Given the description of an element on the screen output the (x, y) to click on. 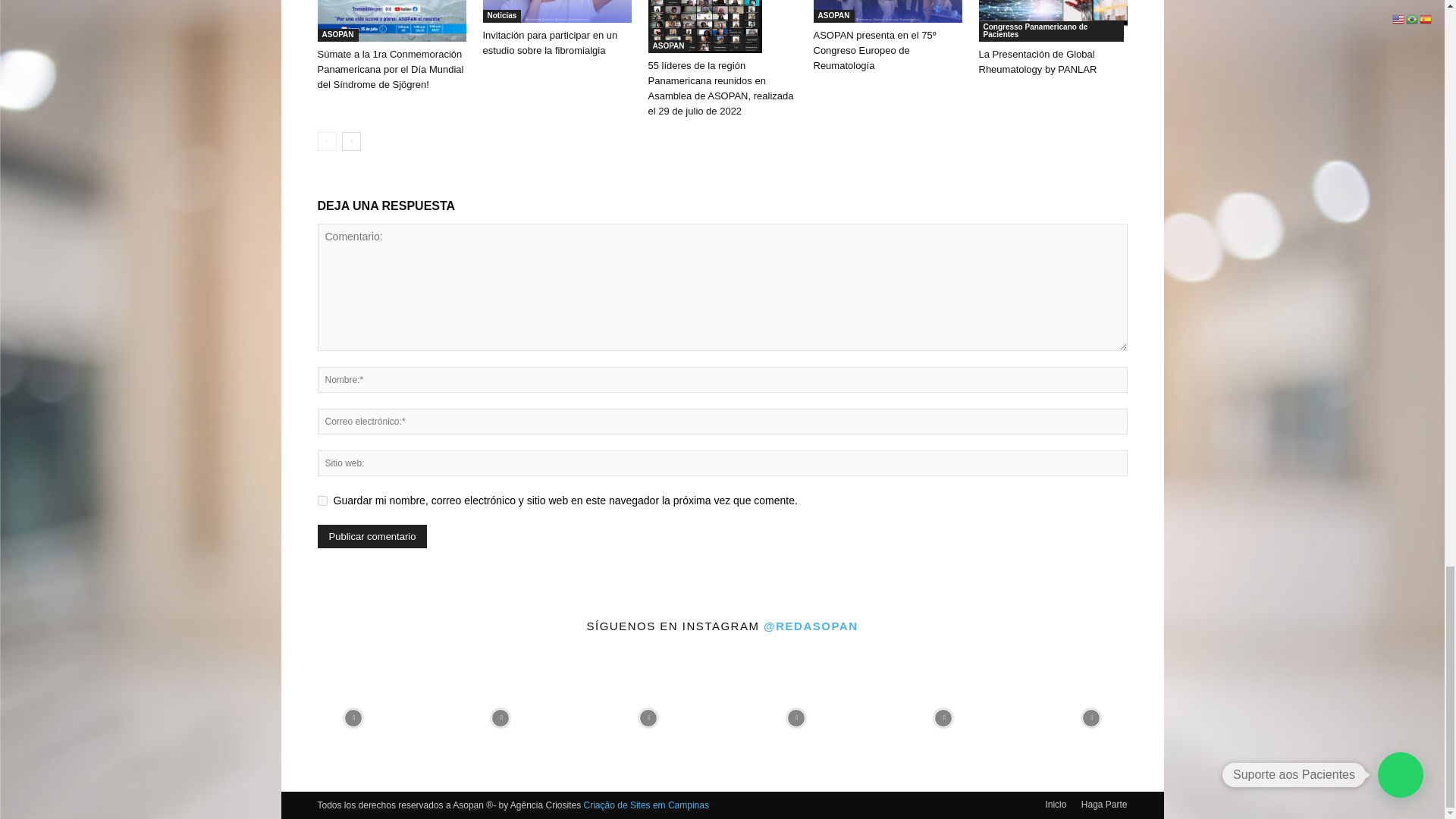
yes (321, 501)
Publicar comentario (371, 535)
